Given the description of an element on the screen output the (x, y) to click on. 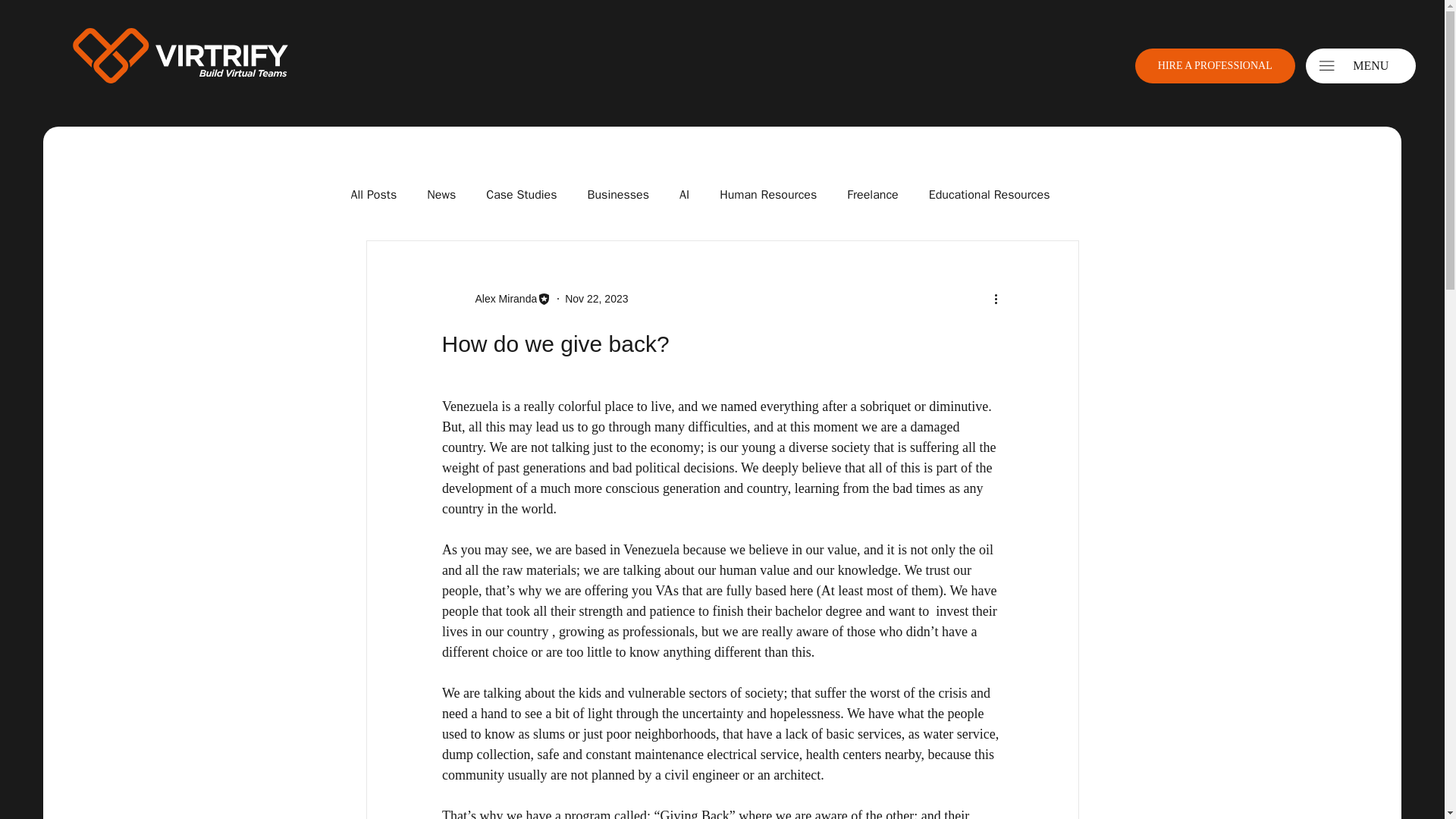
Alex Miranda (501, 299)
Educational Resources (988, 195)
HIRE A PROFESSIONAL (1215, 65)
Human Resources (767, 195)
Businesses (618, 195)
All Posts (373, 195)
Freelance (872, 195)
Case Studies (521, 195)
News (440, 195)
Nov 22, 2023 (595, 298)
